Given the description of an element on the screen output the (x, y) to click on. 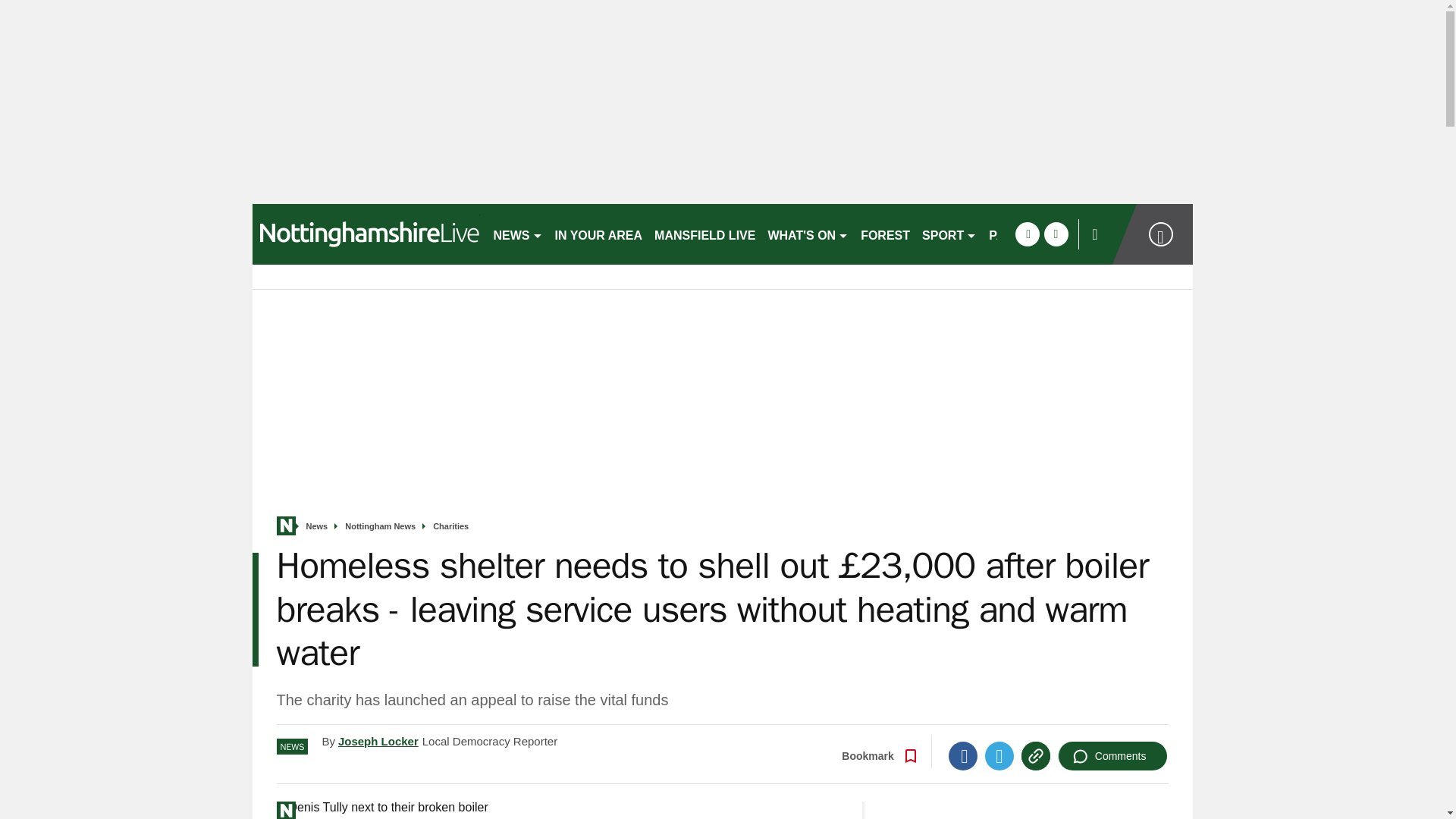
Comments (1112, 756)
facebook (1026, 233)
MANSFIELD LIVE (704, 233)
IN YOUR AREA (598, 233)
FOREST (884, 233)
WHAT'S ON (807, 233)
SPORT (948, 233)
NEWS (517, 233)
nottinghampost (365, 233)
twitter (1055, 233)
Facebook (962, 756)
Twitter (999, 756)
PARTNER STORIES (1045, 233)
